Given the description of an element on the screen output the (x, y) to click on. 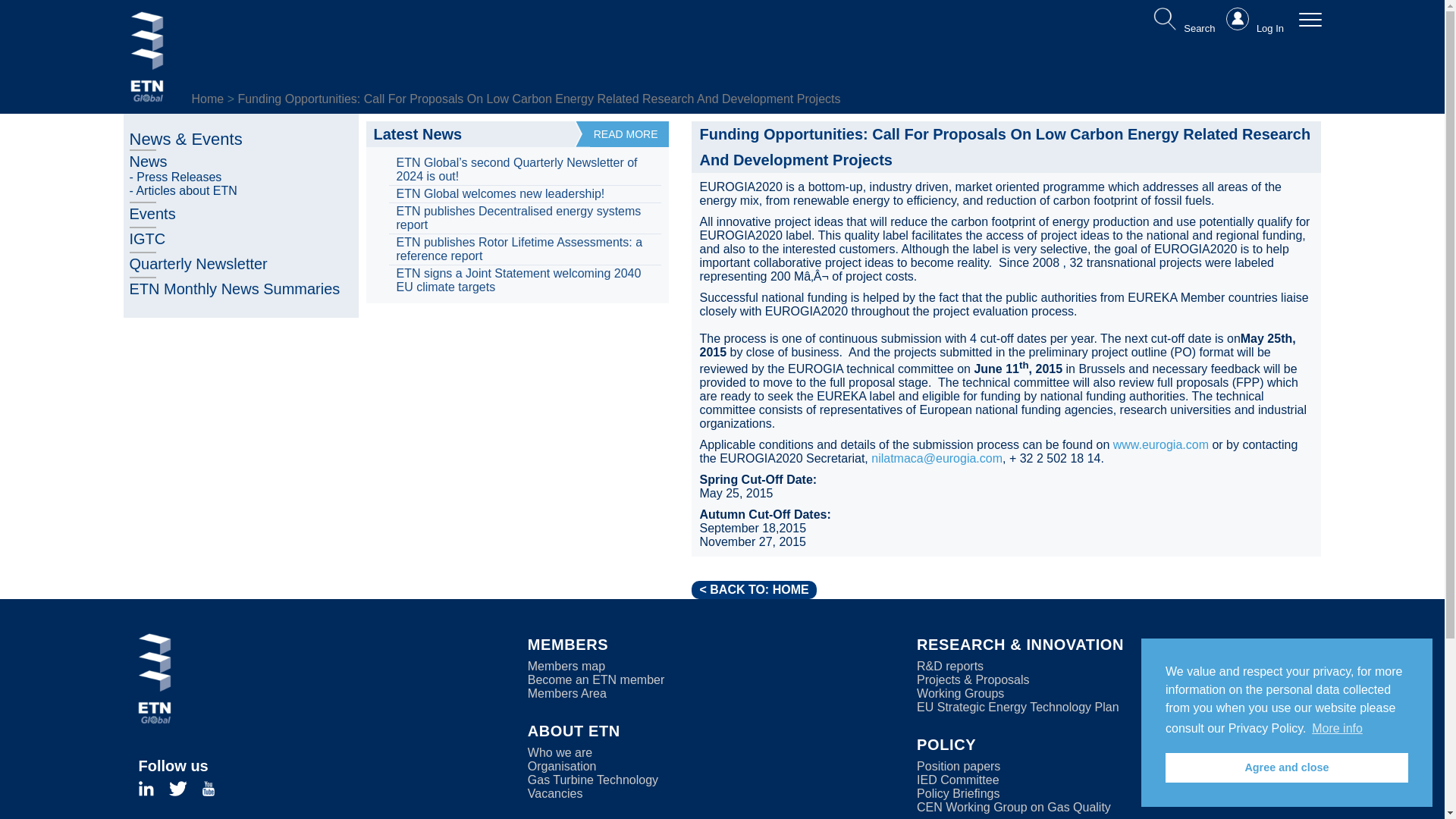
Menu (1308, 18)
